Given the description of an element on the screen output the (x, y) to click on. 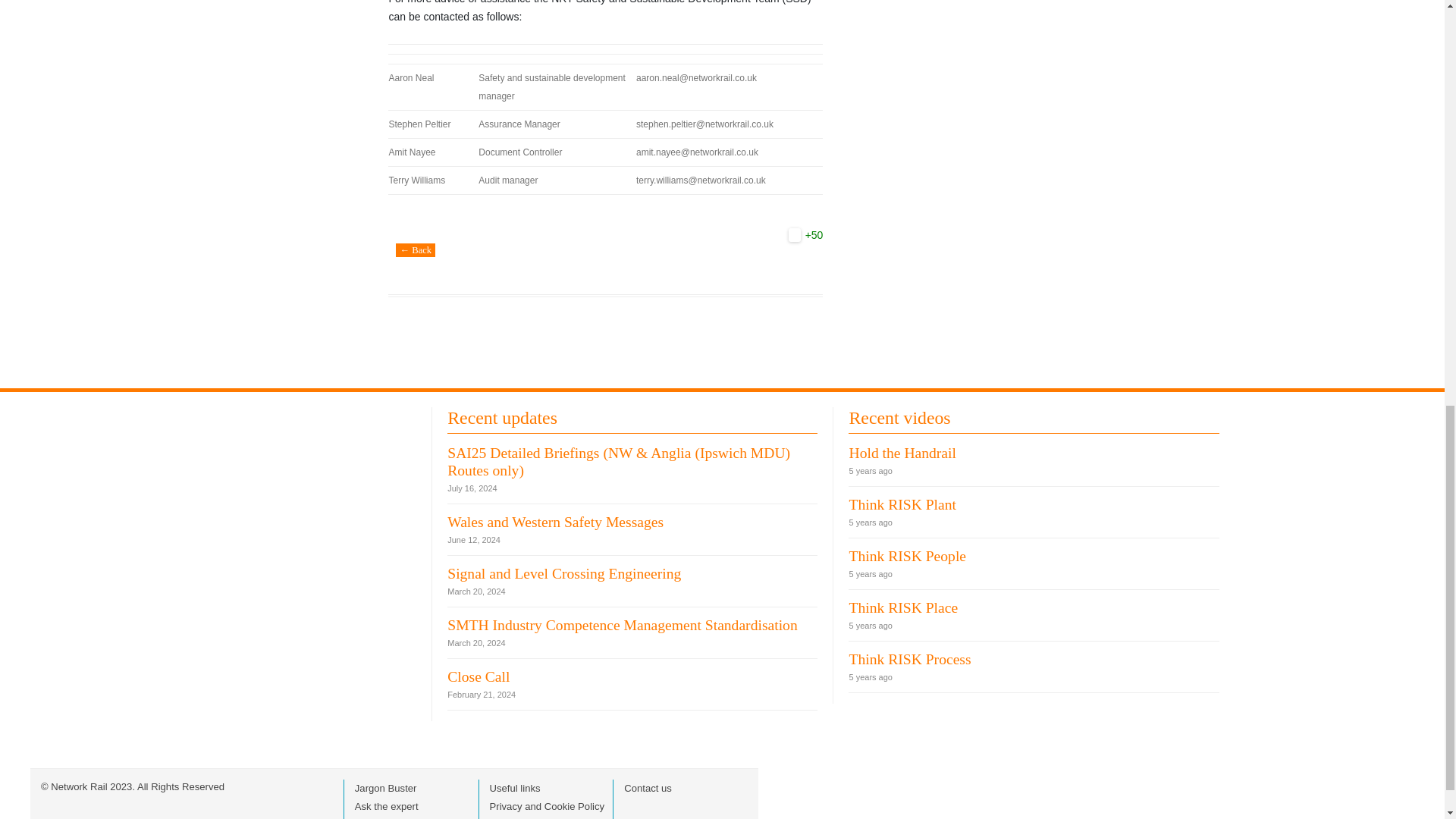
Privacy and Cookie Policy (547, 806)
Ask the expert (387, 806)
Jargon Buster (385, 787)
Useful links (514, 787)
Contact us (647, 787)
